Given the description of an element on the screen output the (x, y) to click on. 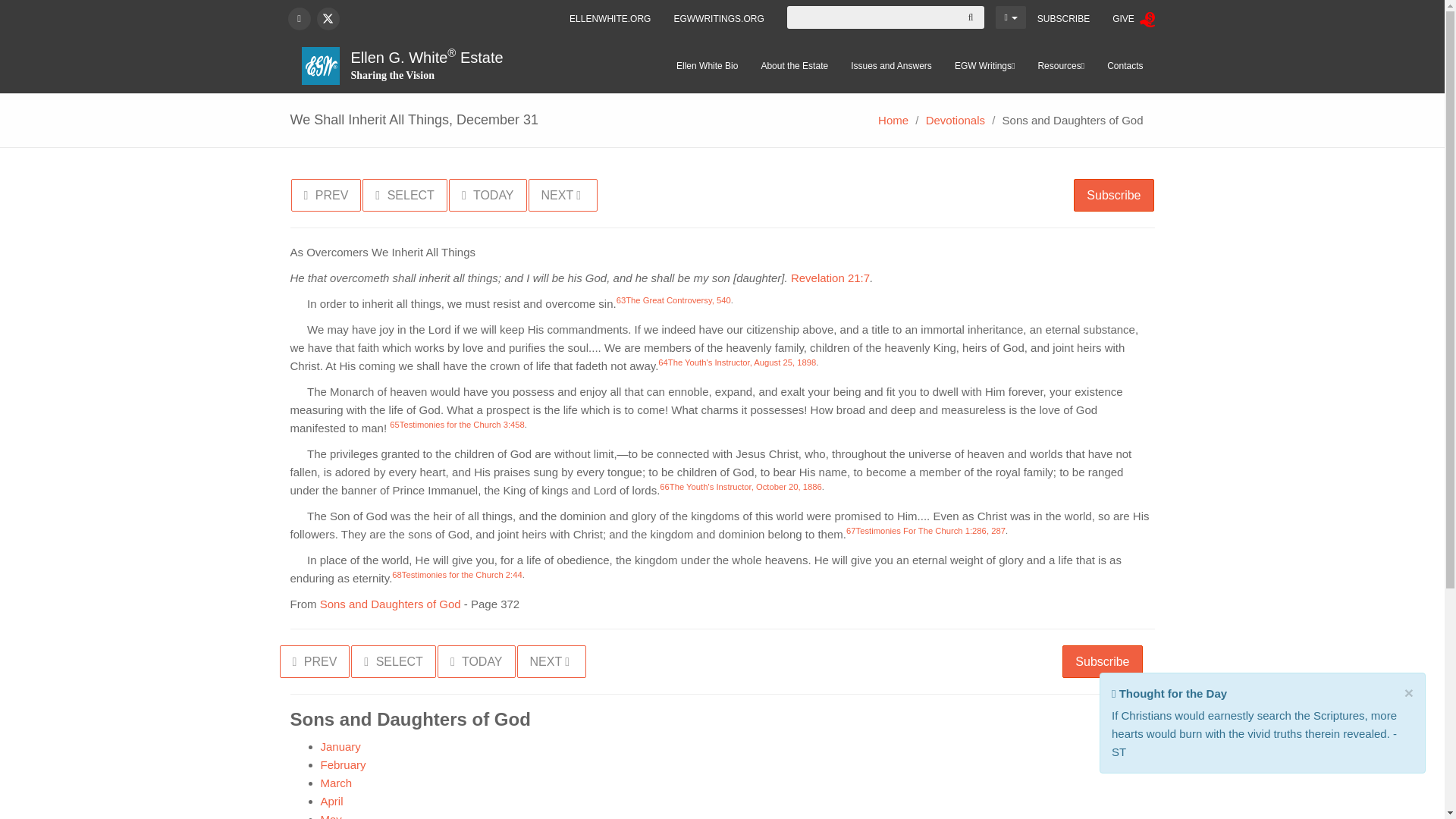
1T 286.1 (930, 530)
EGW Writings (984, 65)
Ellen White Bio (707, 65)
Issues and Answers (891, 65)
Revelation 21:7 (829, 277)
ELLENWHITE.ORG (609, 18)
GIVE   (1133, 19)
2T 44.1 (461, 574)
YI 10-20-1886 (745, 486)
3T 458.1 (461, 424)
